Given the description of an element on the screen output the (x, y) to click on. 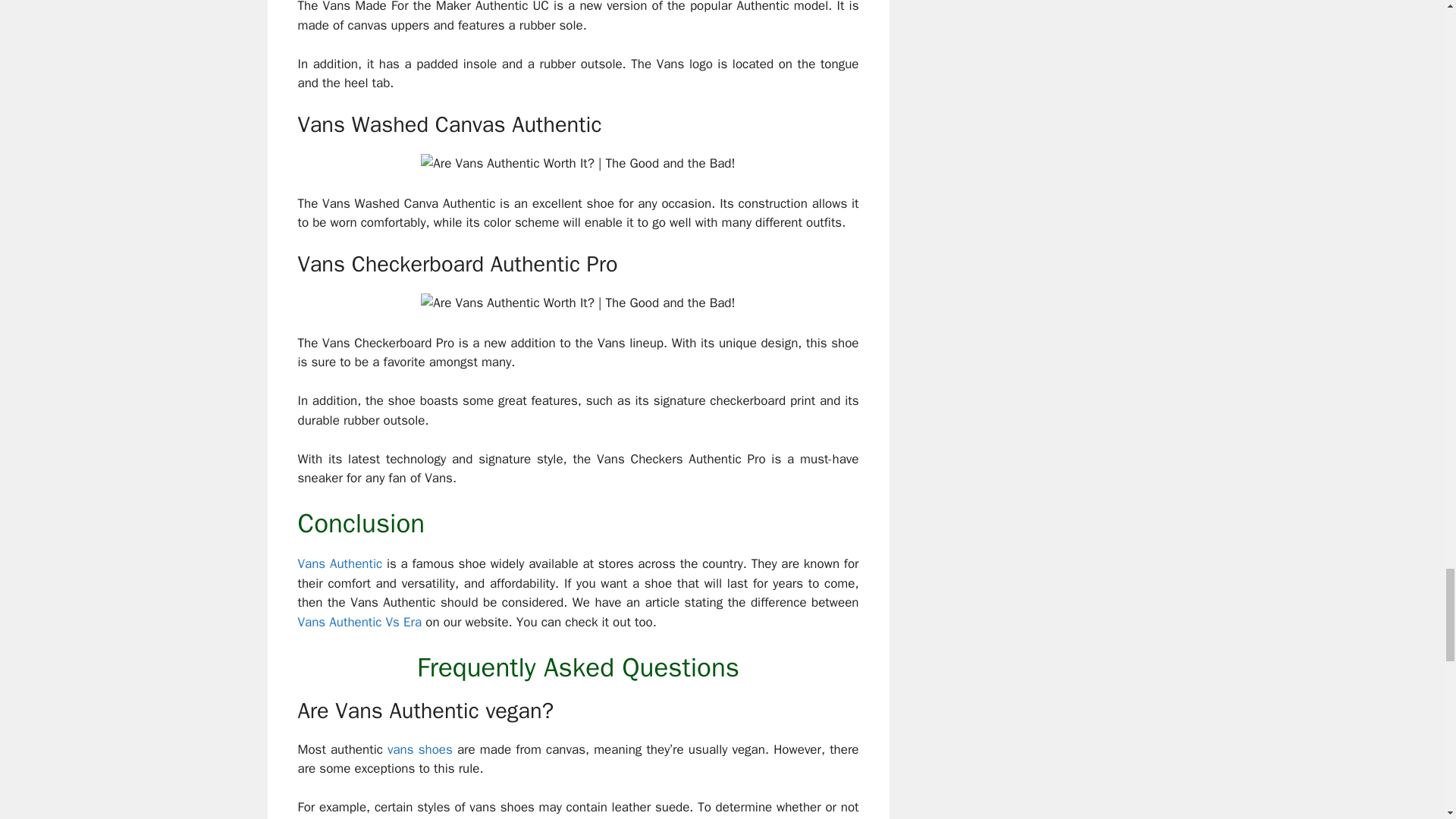
Vans Authentic Vs Era (359, 621)
Vans Authentic (339, 563)
vans shoes (419, 749)
